Given the description of an element on the screen output the (x, y) to click on. 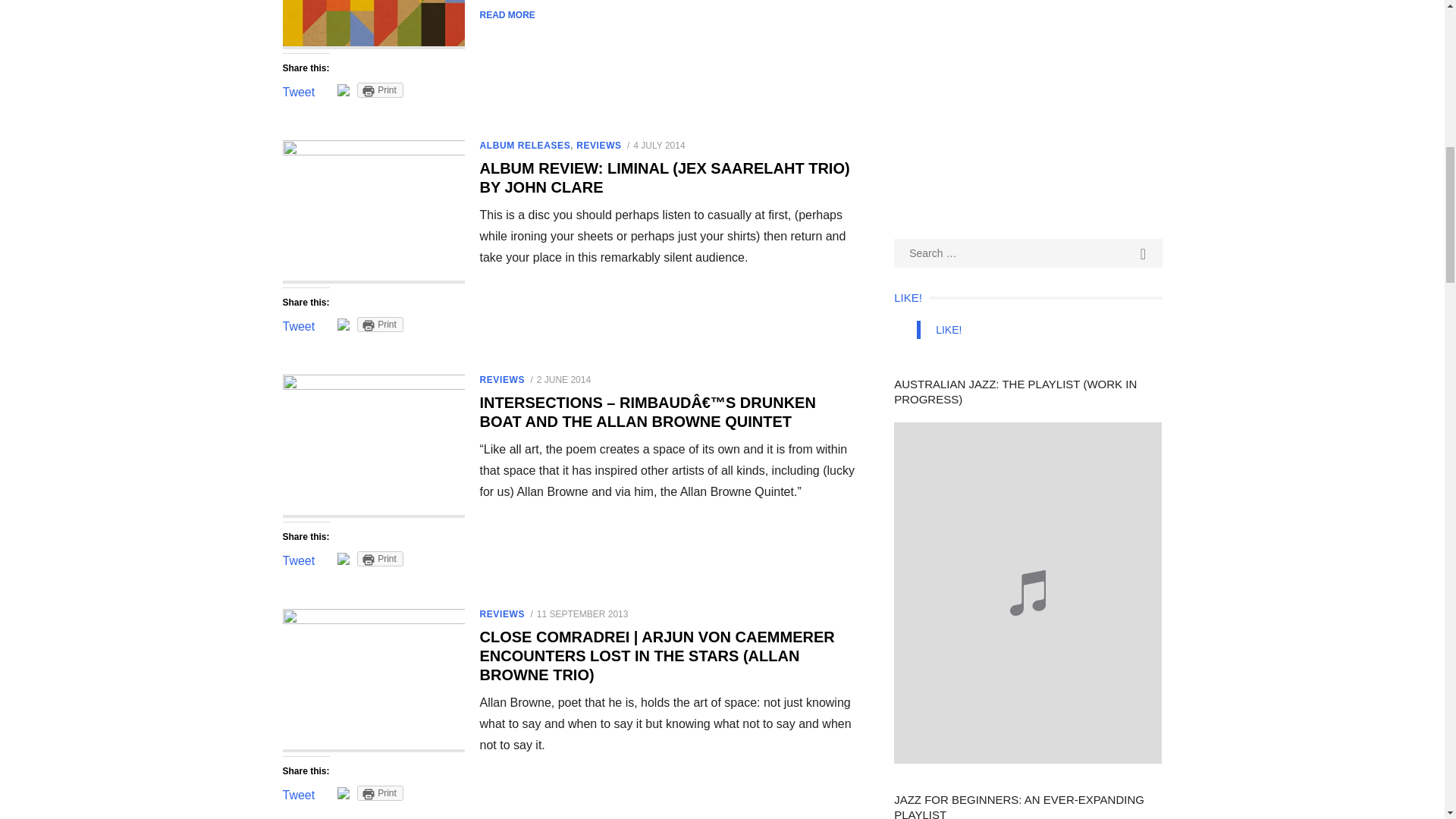
Click to print (379, 558)
Album review: Paul Williamson Live (373, 24)
Click to print (379, 324)
Click to print (379, 792)
Click to print (379, 89)
